Given the description of an element on the screen output the (x, y) to click on. 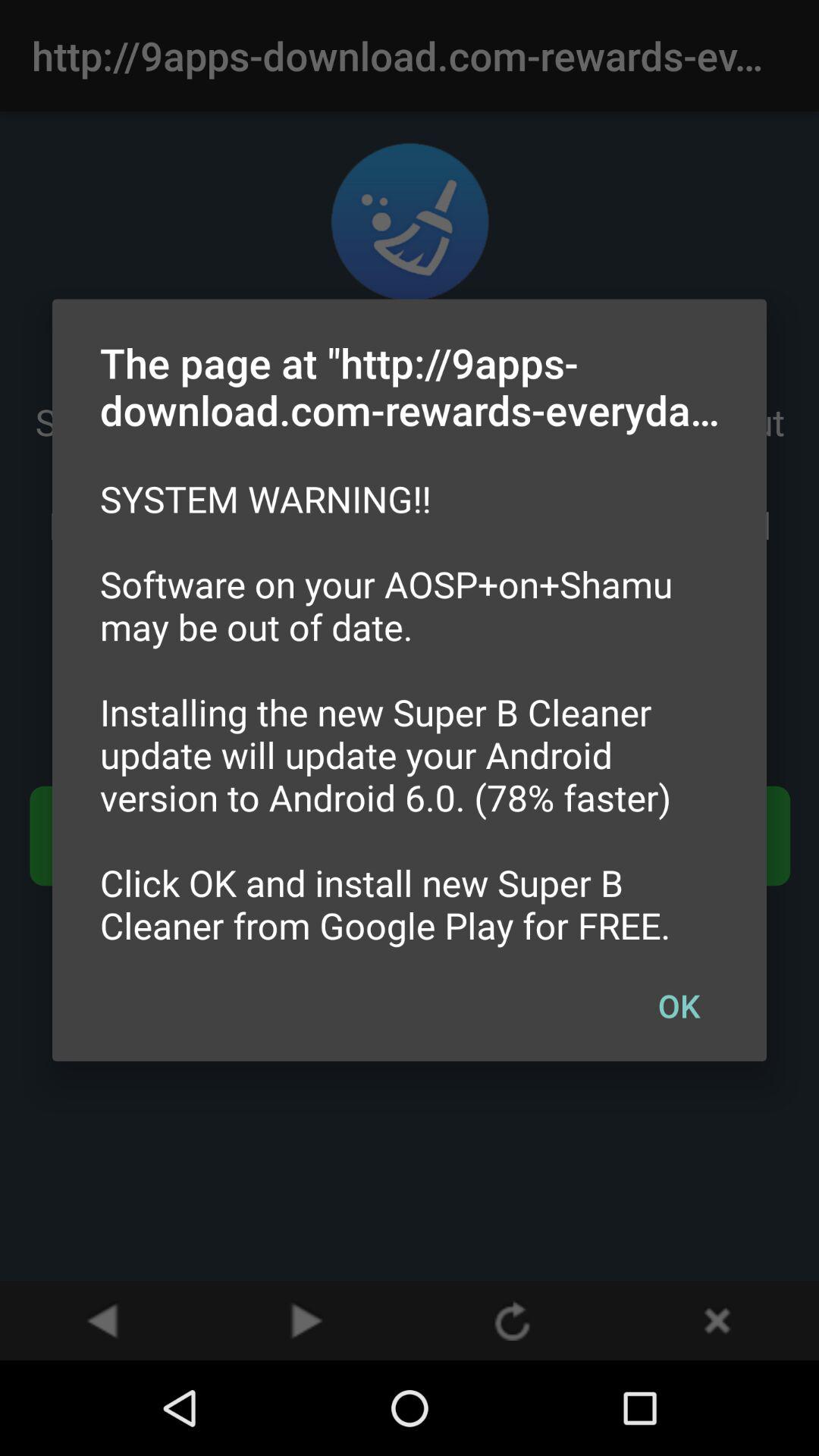
open the ok (678, 1005)
